Given the description of an element on the screen output the (x, y) to click on. 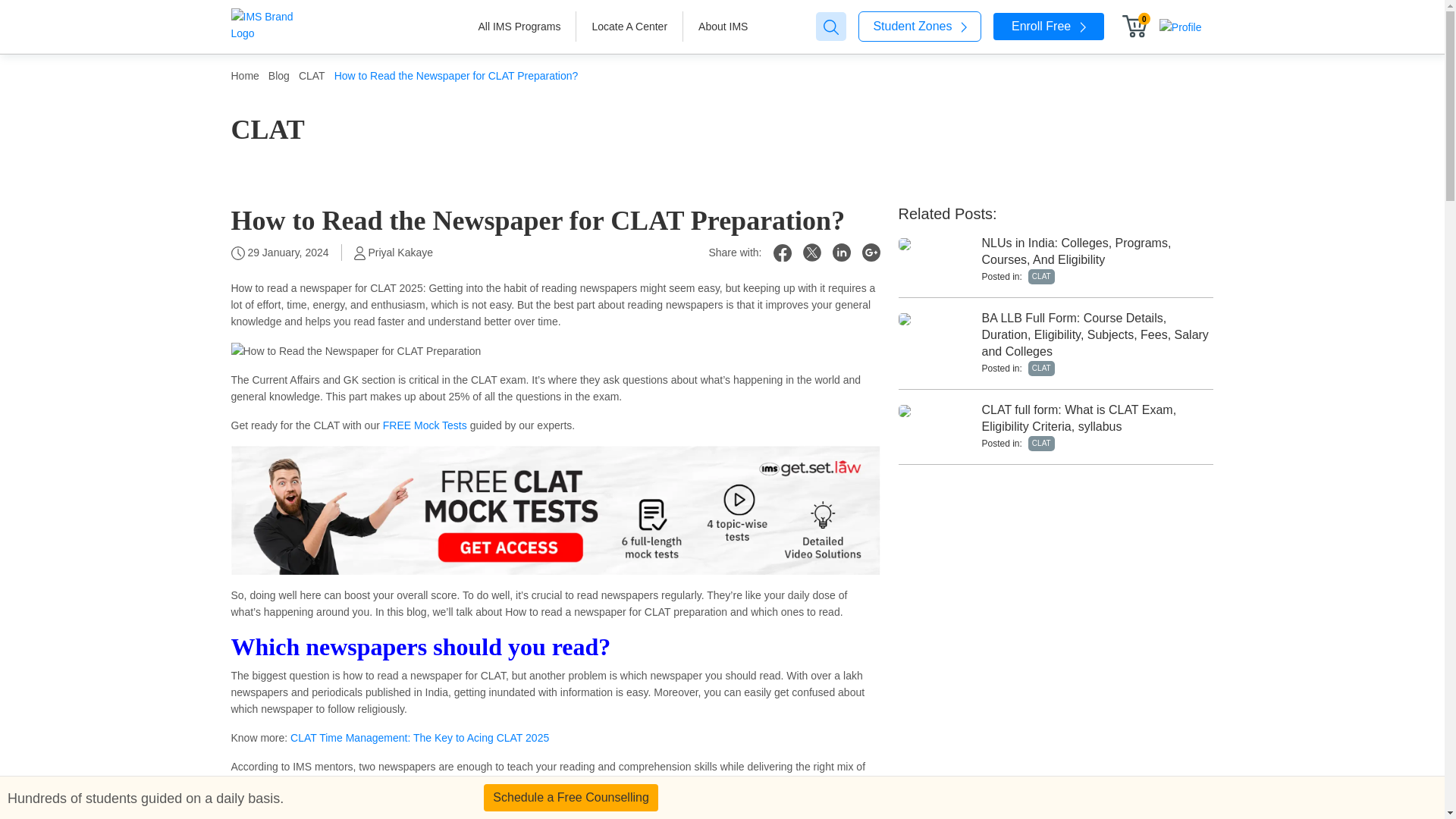
About IMS (722, 26)
Enroll Free (1047, 26)
Locate A Center (629, 26)
Student Zones (920, 26)
All IMS Programs (519, 26)
0 (1137, 25)
